Given the description of an element on the screen output the (x, y) to click on. 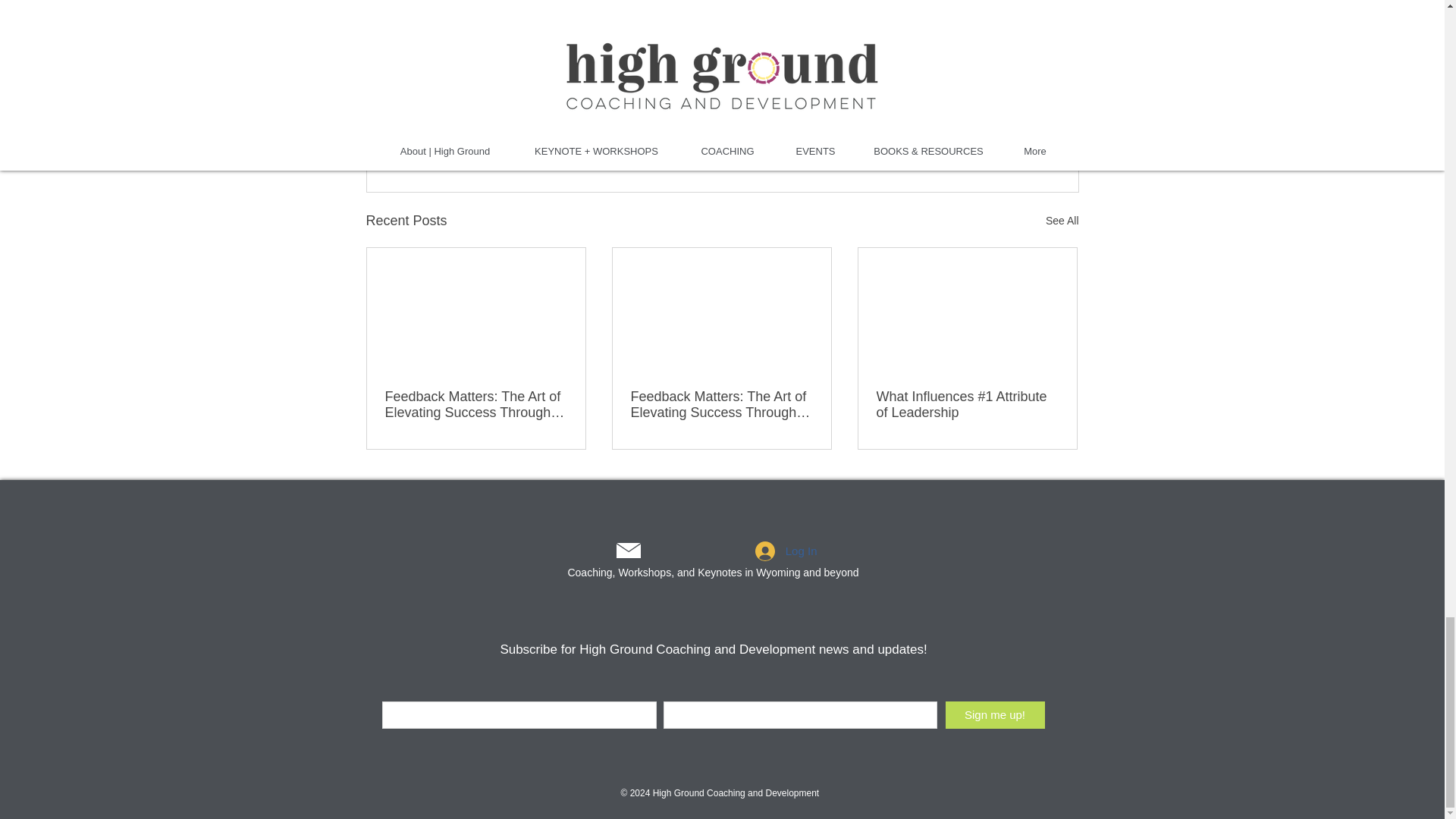
Sign me up! (993, 714)
live your purpose (623, 65)
Log In (786, 551)
authentic life (719, 65)
See All (1061, 220)
courage (470, 65)
business (536, 65)
